Given the description of an element on the screen output the (x, y) to click on. 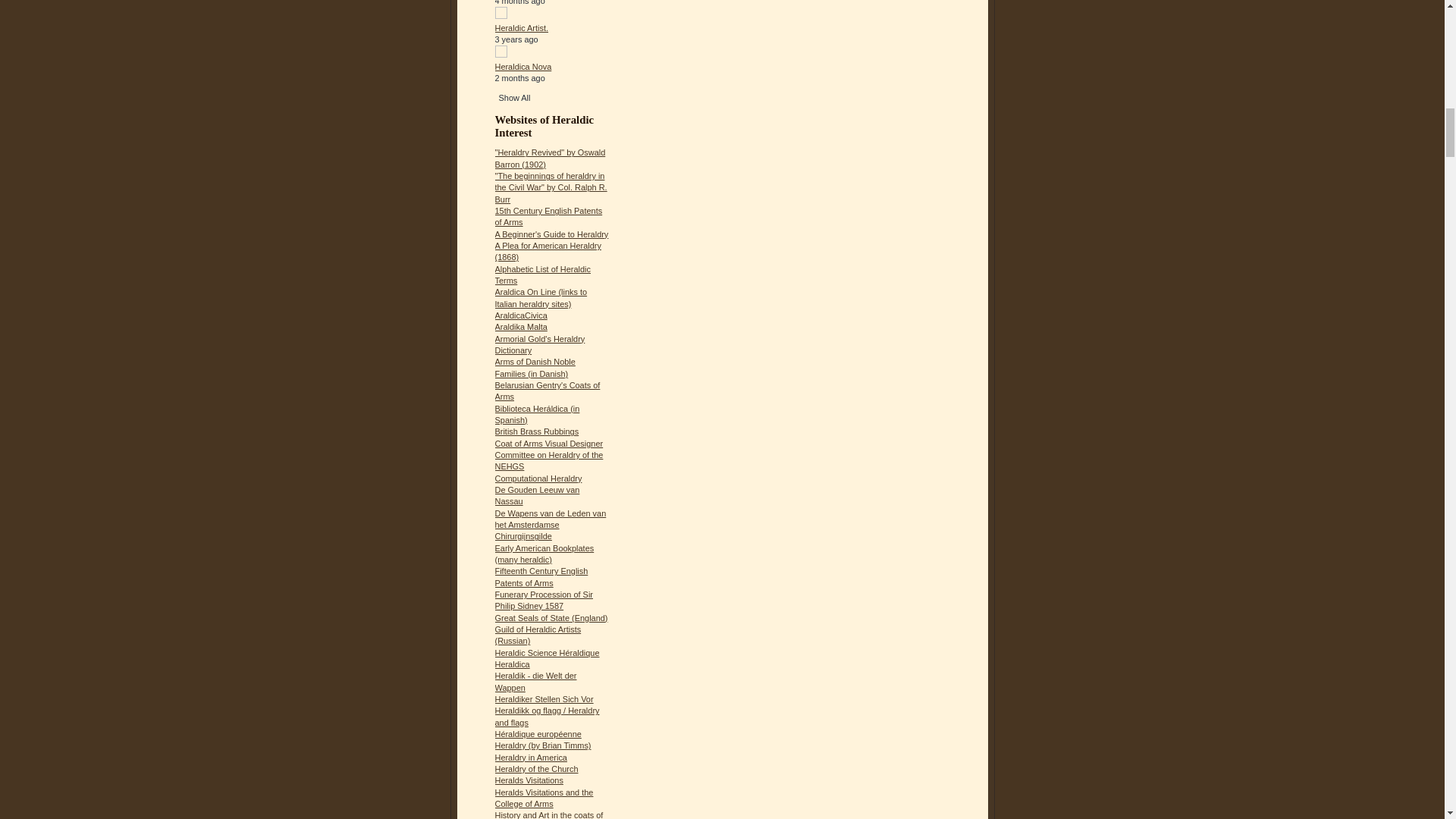
Heraldic Artist. (521, 27)
Heraldica Nova (523, 66)
